Given the description of an element on the screen output the (x, y) to click on. 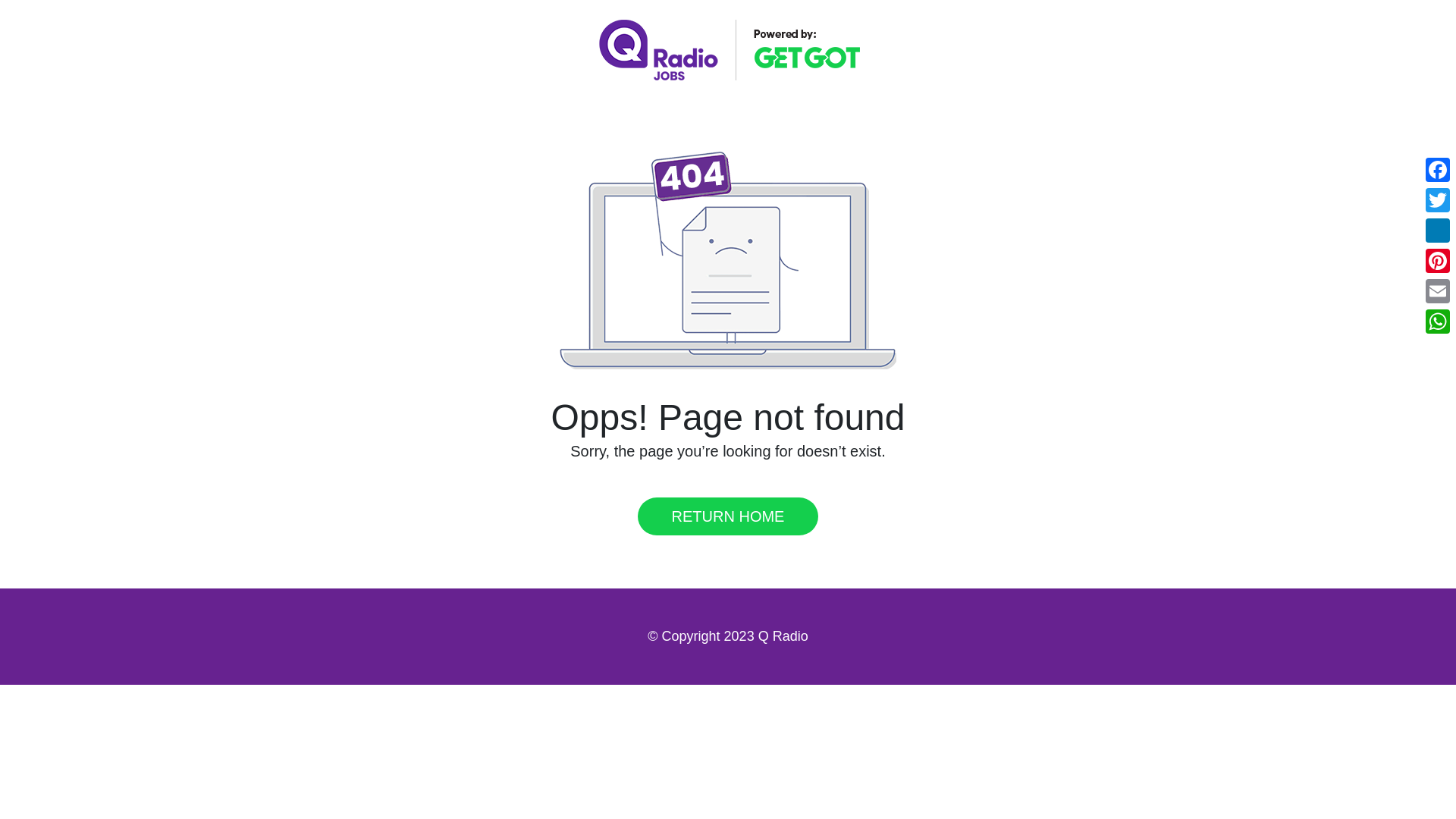
RETURN HOME (727, 516)
Email (1437, 291)
Facebook (1437, 169)
Pinterest (1437, 260)
WhatsApp (1437, 321)
Facebook (1437, 169)
Twitter (1437, 200)
Twitter (1437, 200)
Pinterest (1437, 260)
LinkedIn (1437, 230)
LinkedIn (1437, 230)
WhatsApp (1437, 321)
Email (1437, 291)
